Given the description of an element on the screen output the (x, y) to click on. 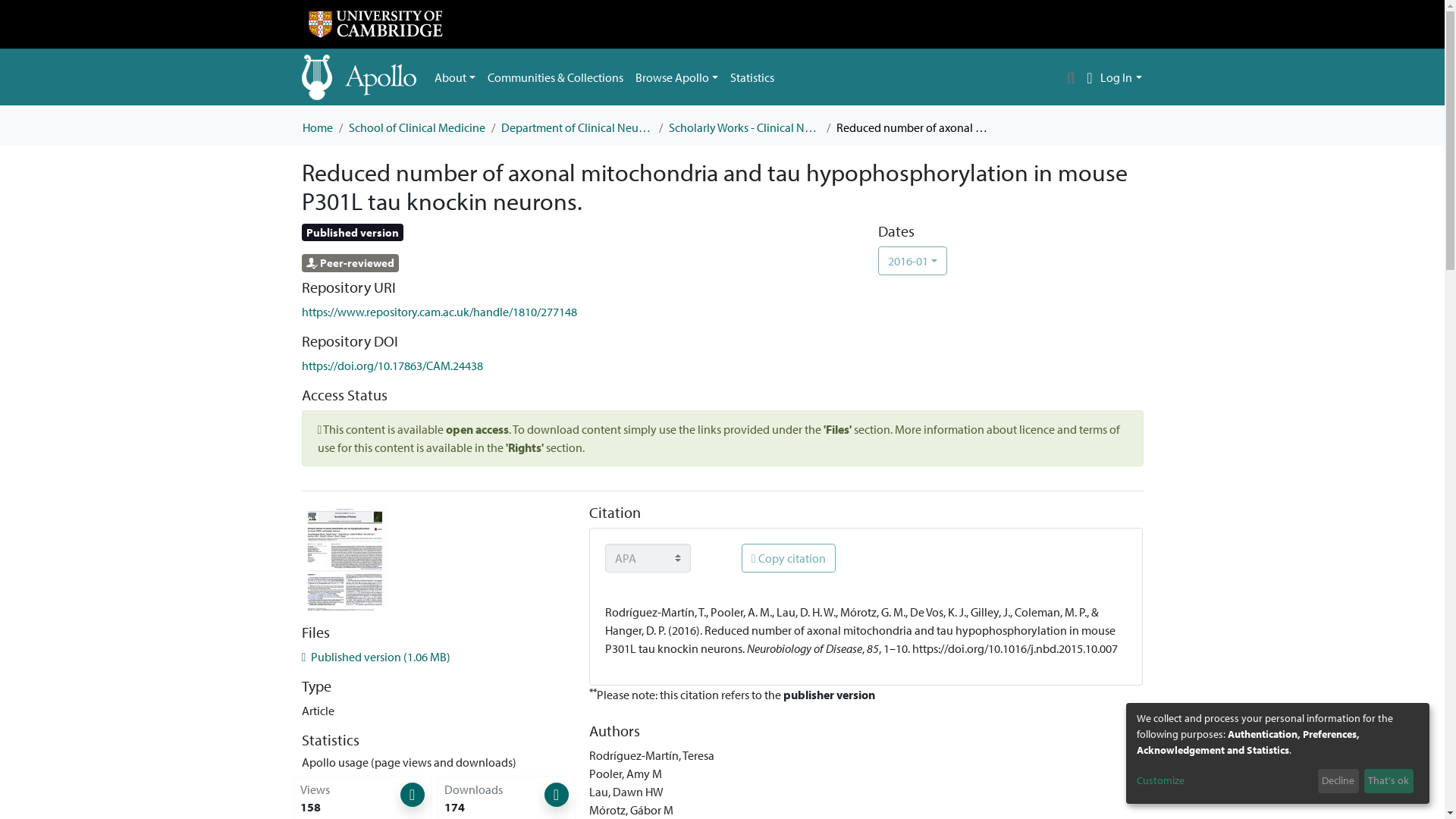
Statistics (751, 77)
School of Clinical Medicine (416, 126)
Department of Clinical Neurosciences (576, 126)
Language switch (1089, 76)
Copy citation (788, 557)
Statistics (751, 77)
Log In (1120, 77)
Home (316, 126)
Search (1070, 76)
About (454, 77)
2016-01 (912, 260)
Browse Apollo (675, 77)
Scholarly Works - Clinical Neurosciences (744, 126)
